Given the description of an element on the screen output the (x, y) to click on. 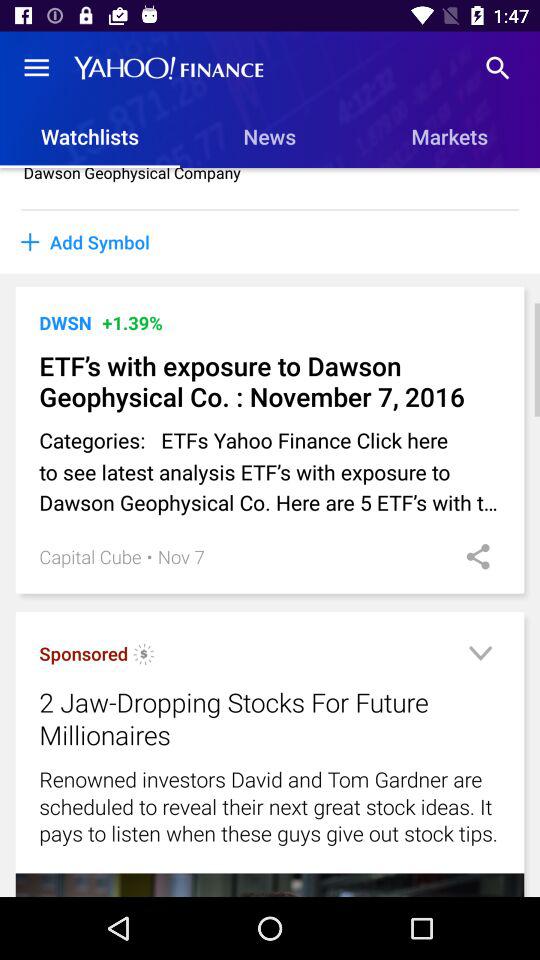
flip to 2 jaw dropping item (244, 718)
